Given the description of an element on the screen output the (x, y) to click on. 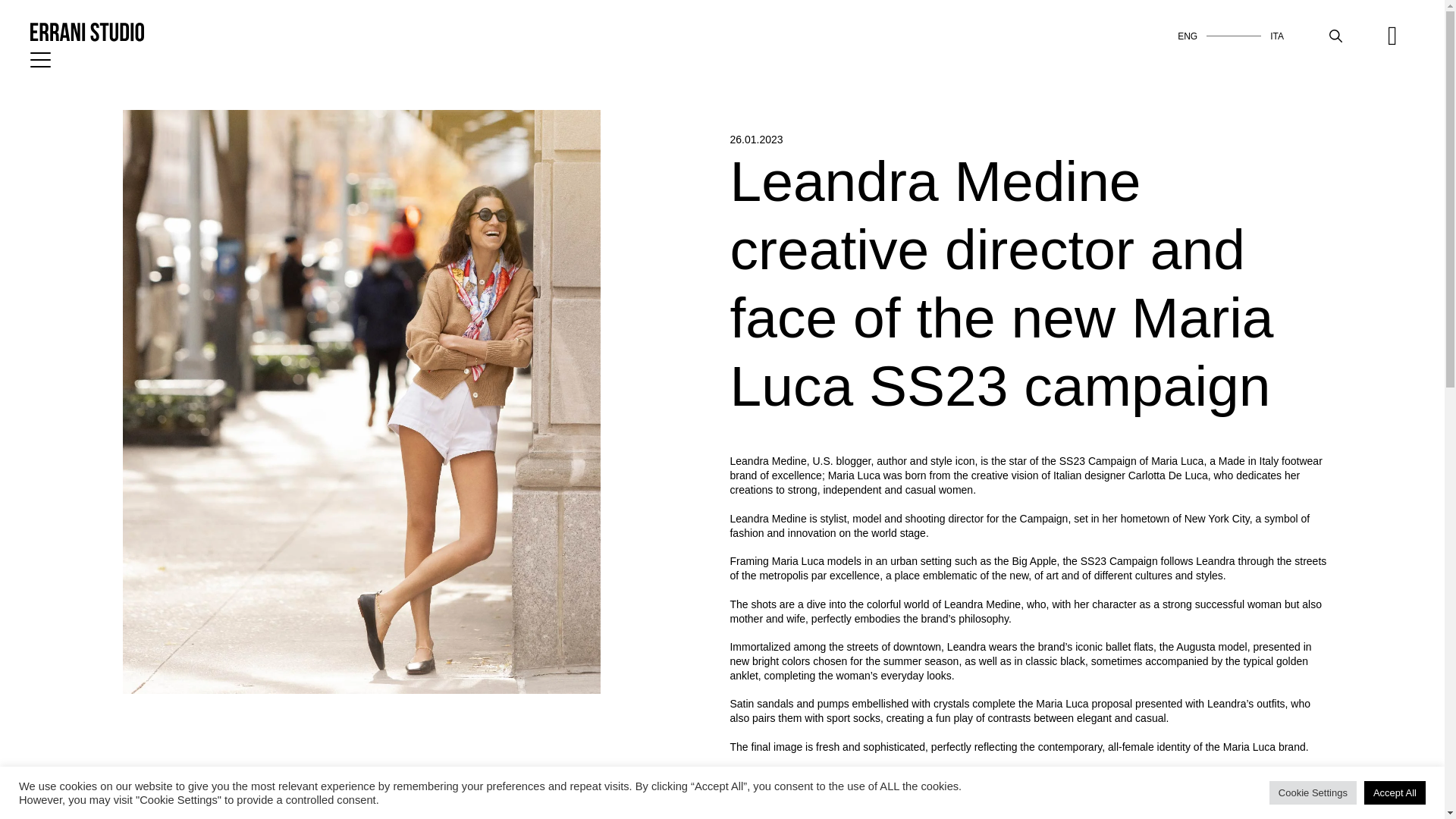
Accept All (1394, 792)
ENG (1186, 36)
Spotify (1400, 35)
ITA (1276, 36)
Cookie Settings (1312, 792)
